Given the description of an element on the screen output the (x, y) to click on. 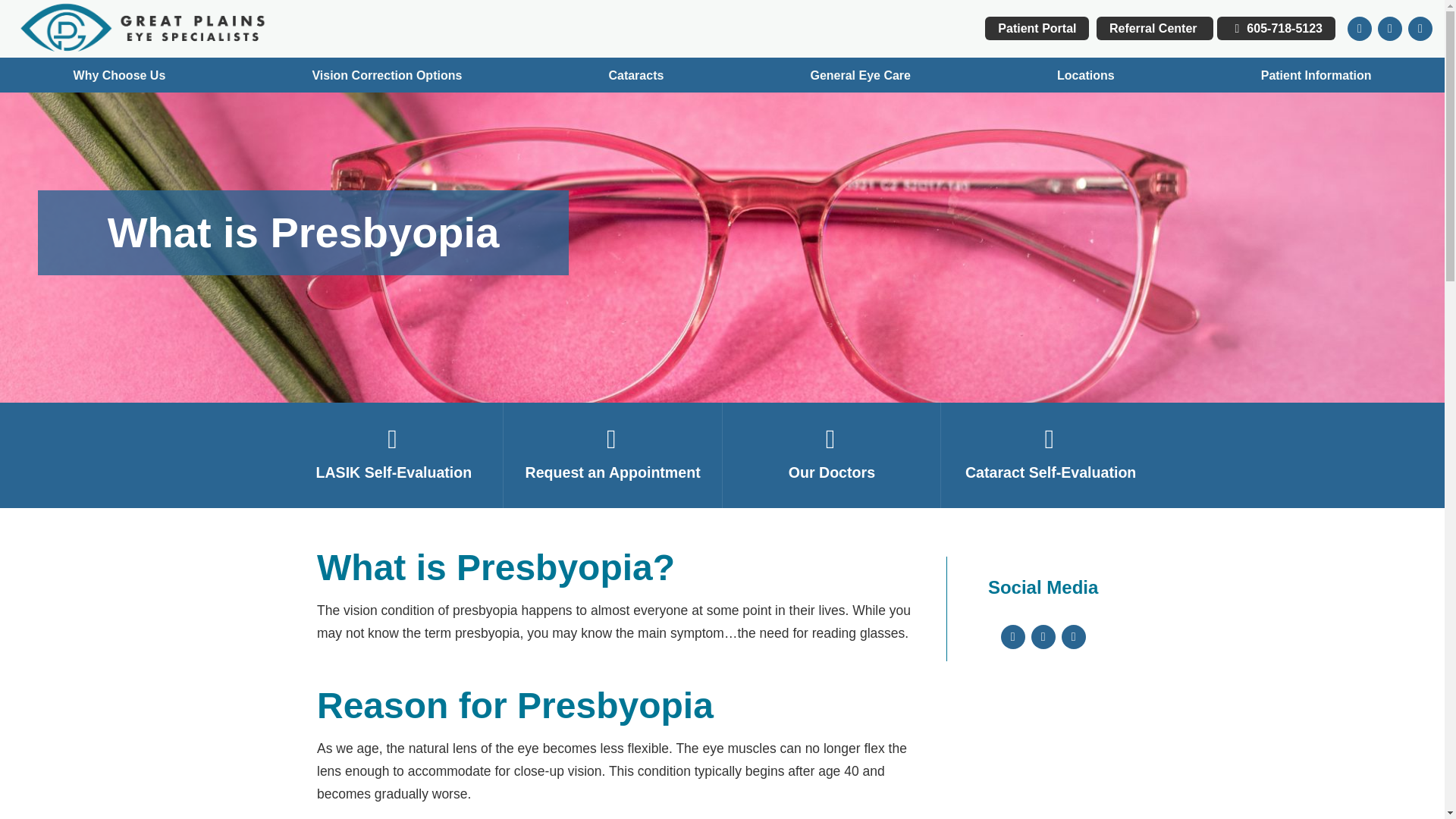
Patient Portal (1037, 28)
Vision Correction Options (386, 74)
605-718-5123 (1276, 28)
General Eye Care (860, 74)
Referral Center (1154, 28)
Cataracts (635, 74)
Why Choose Us (119, 74)
